Given the description of an element on the screen output the (x, y) to click on. 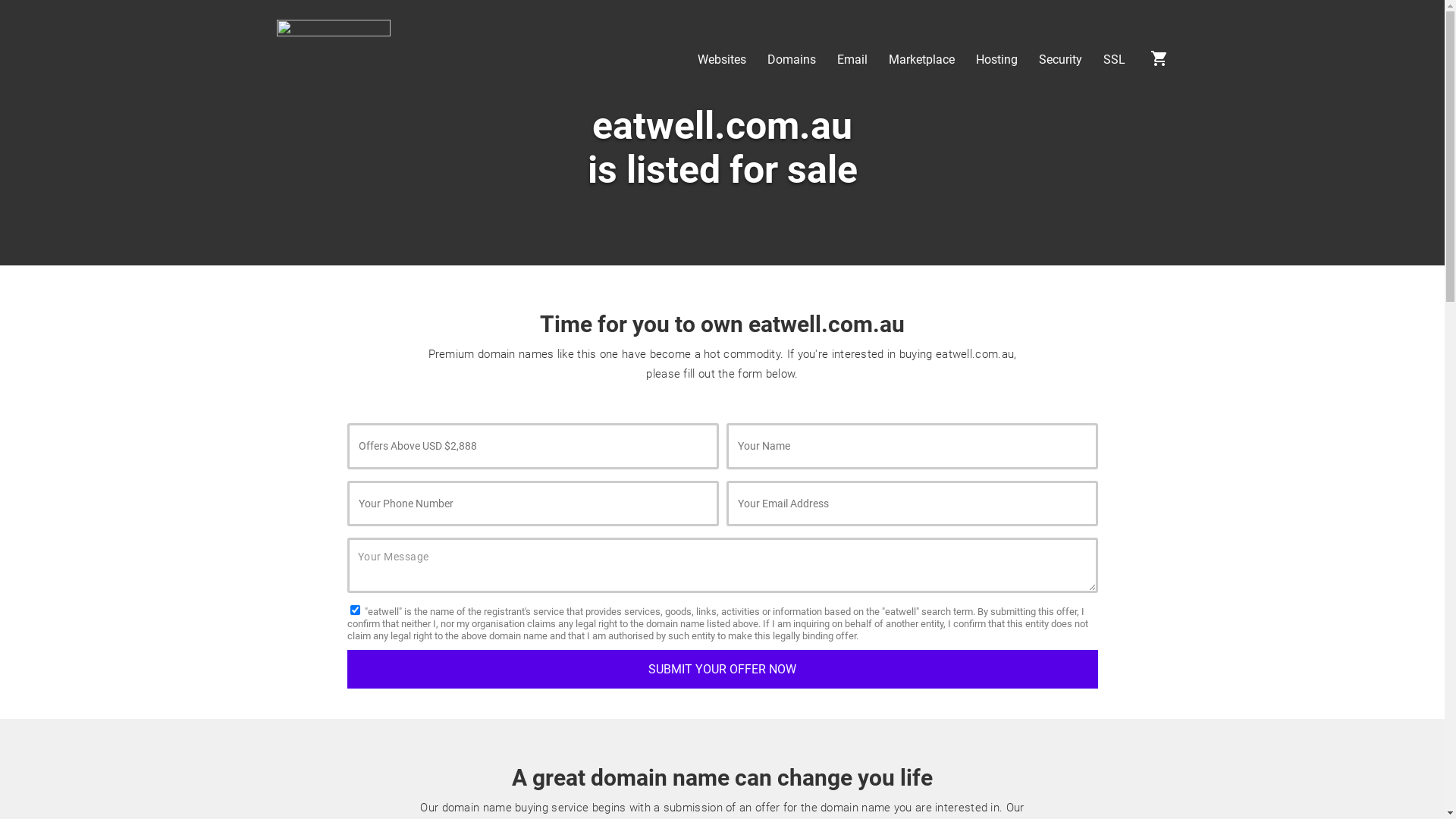
shopping_cart Element type: text (1158, 63)
SSL Element type: text (1113, 59)
Domains Element type: text (791, 59)
Websites Element type: text (721, 59)
Submit your offer now Element type: text (722, 668)
Marketplace Element type: text (921, 59)
Email Element type: text (852, 59)
Hosting Element type: text (996, 59)
Security Element type: text (1060, 59)
